Given the description of an element on the screen output the (x, y) to click on. 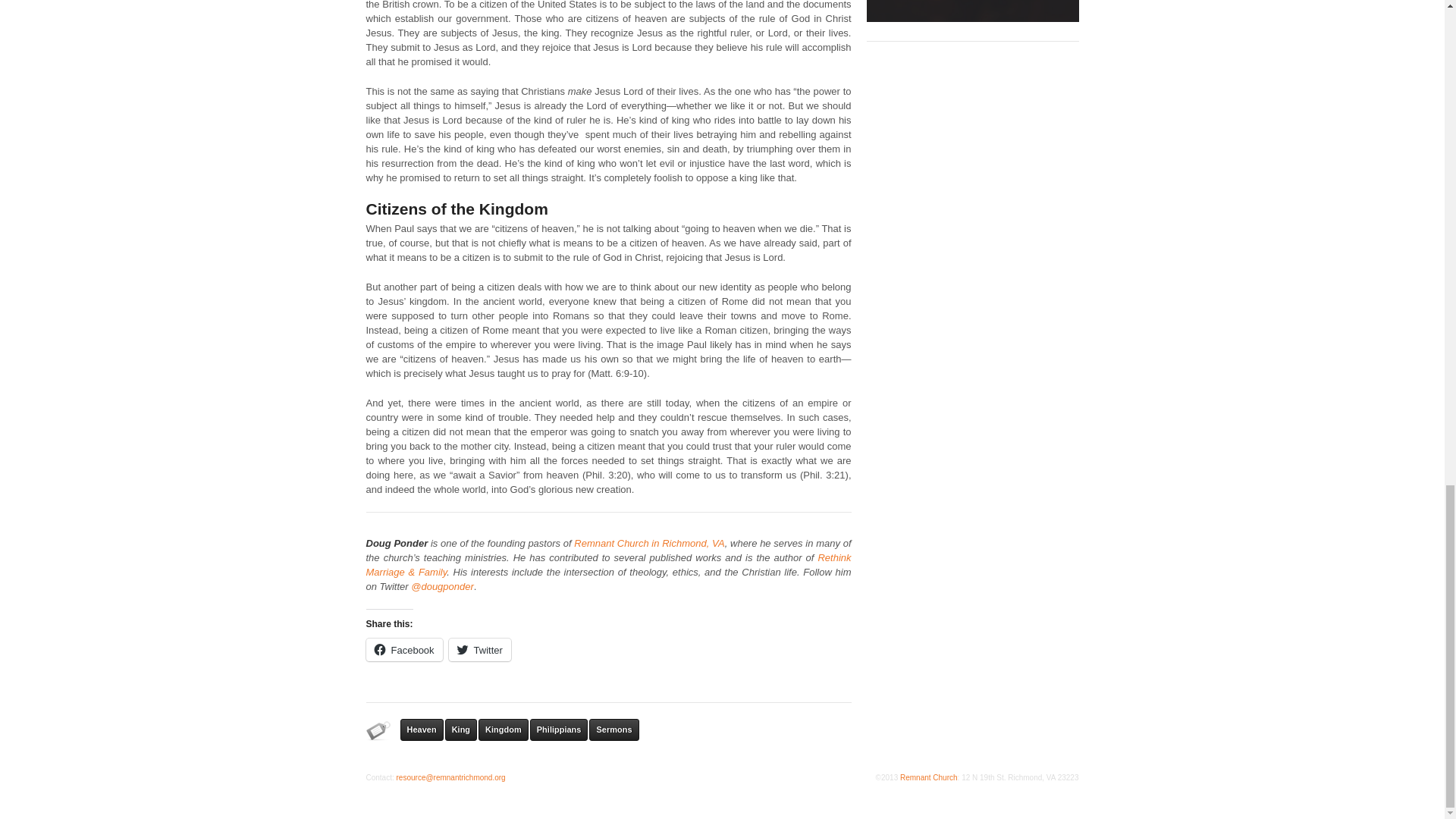
Remnant Church - Richmond, Virginia (972, 11)
Heaven (422, 730)
Philippians (558, 730)
Twitter (479, 649)
Kingdom (503, 730)
Click to share on Twitter (479, 649)
Click to share on Facebook (403, 649)
Facebook (403, 649)
Remnant Church (928, 777)
Sermons (614, 730)
Remnant Church in Richmond, VA (648, 542)
King (461, 730)
